Given the description of an element on the screen output the (x, y) to click on. 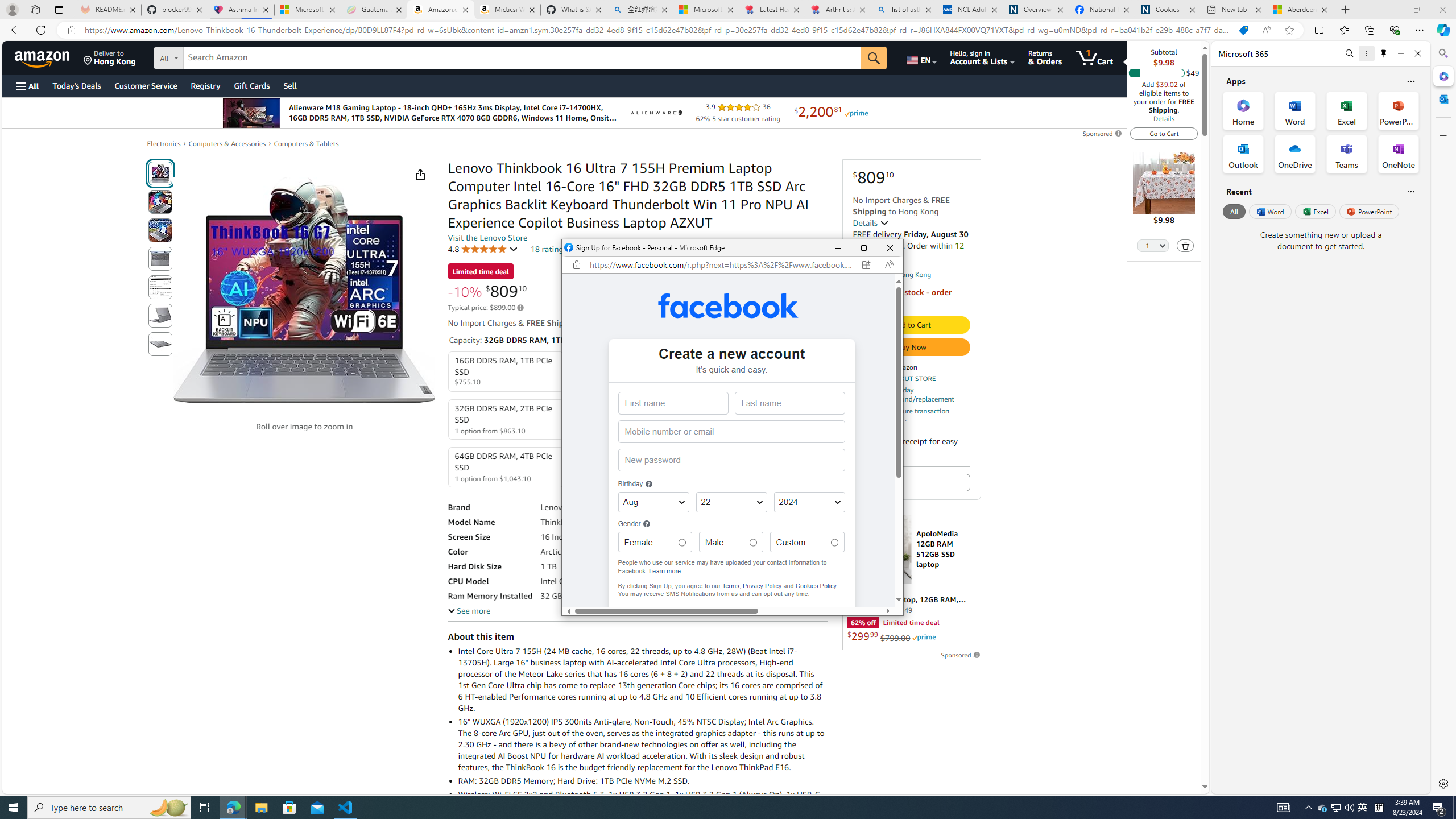
Customer Service (145, 85)
PowerPoint Office App (1398, 110)
Is this helpful? (1410, 191)
Word Office App (1295, 110)
Today's Deals (76, 85)
Learn more (664, 570)
